Given the description of an element on the screen output the (x, y) to click on. 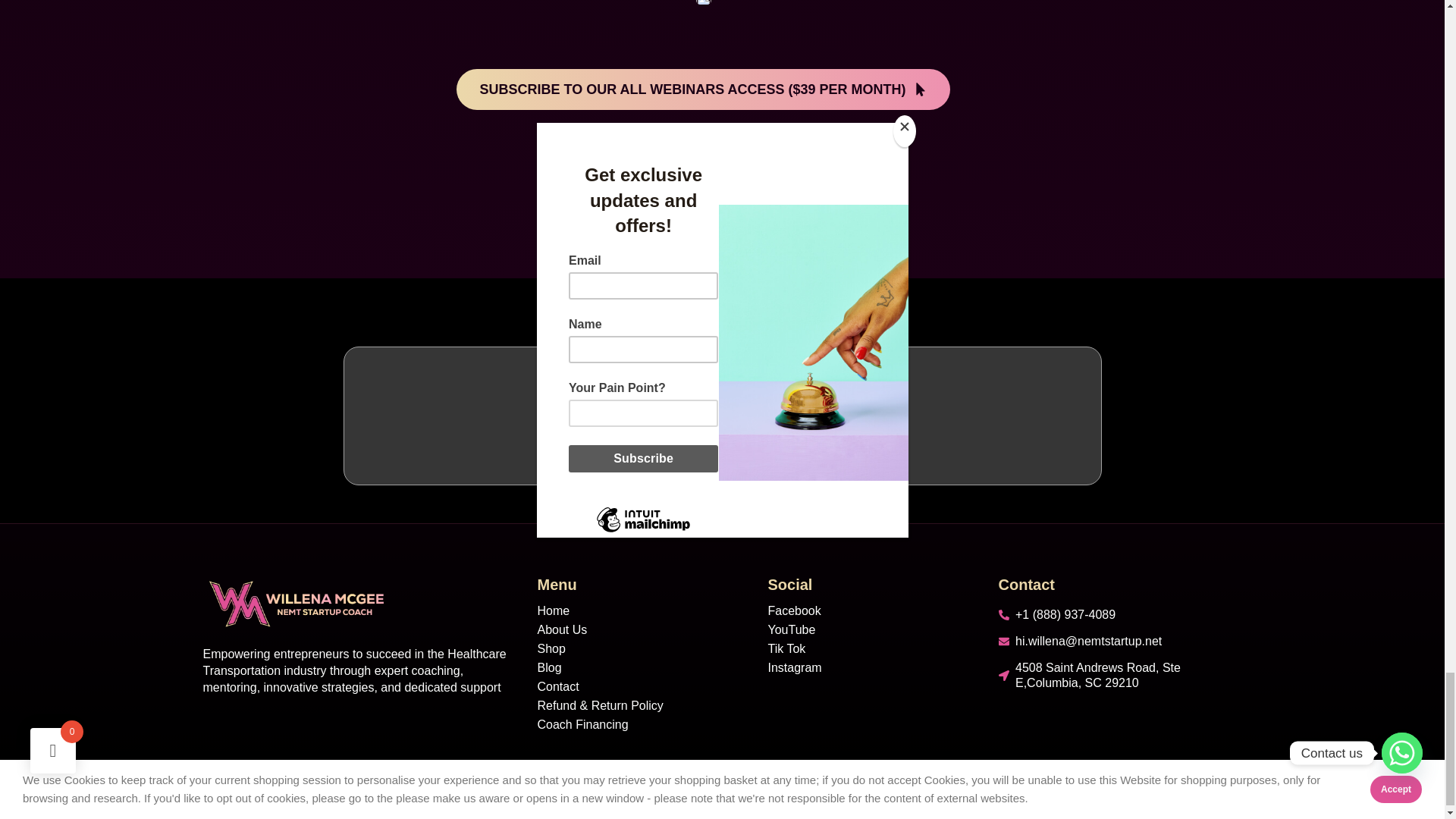
Contact (640, 687)
YouTube (871, 629)
Tik Tok (871, 648)
Shop (640, 648)
Instagram (871, 667)
About Us (640, 629)
Blog (640, 667)
Coach Financing (640, 724)
Home (640, 611)
Facebook (871, 611)
